Given the description of an element on the screen output the (x, y) to click on. 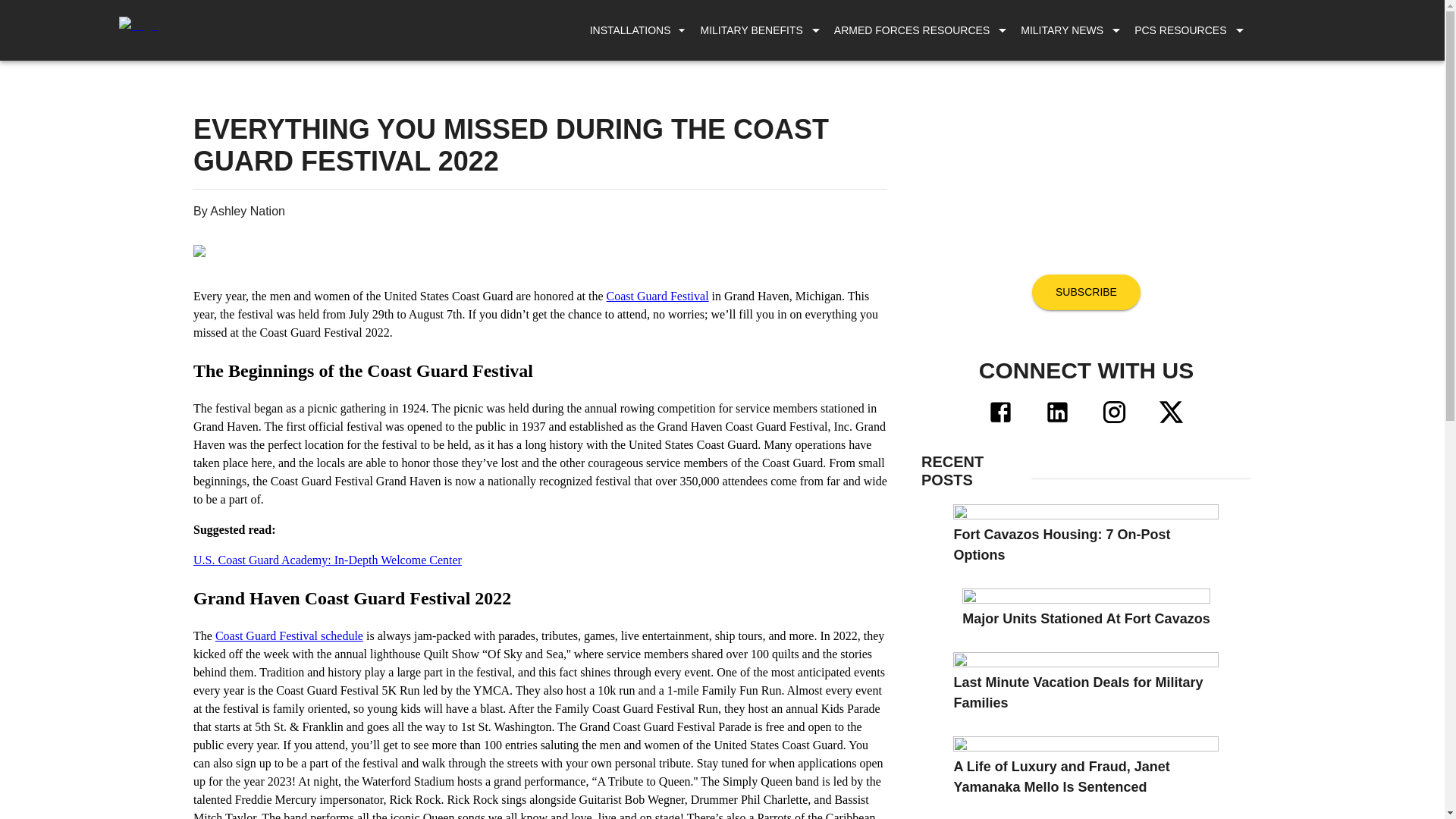
MILITARY BENEFITS (751, 30)
Last Minute Vacation Deals for Military Families (1085, 682)
SUBSCRIBE (1086, 292)
Fort Cavazos Housing: 7 On-Post Options (1085, 534)
PCS RESOURCES (1179, 30)
U.S. Coast Guard Academy: In-Depth Welcome Center (327, 559)
Coast Guard Festival (658, 295)
Major Units Stationed At Fort Cavazos (1085, 608)
INSTALLATIONS (638, 30)
ARMED FORCES RESOURCES (911, 30)
Coast Guard Festival schedule (288, 635)
MILITARY NEWS (1061, 30)
